Given the description of an element on the screen output the (x, y) to click on. 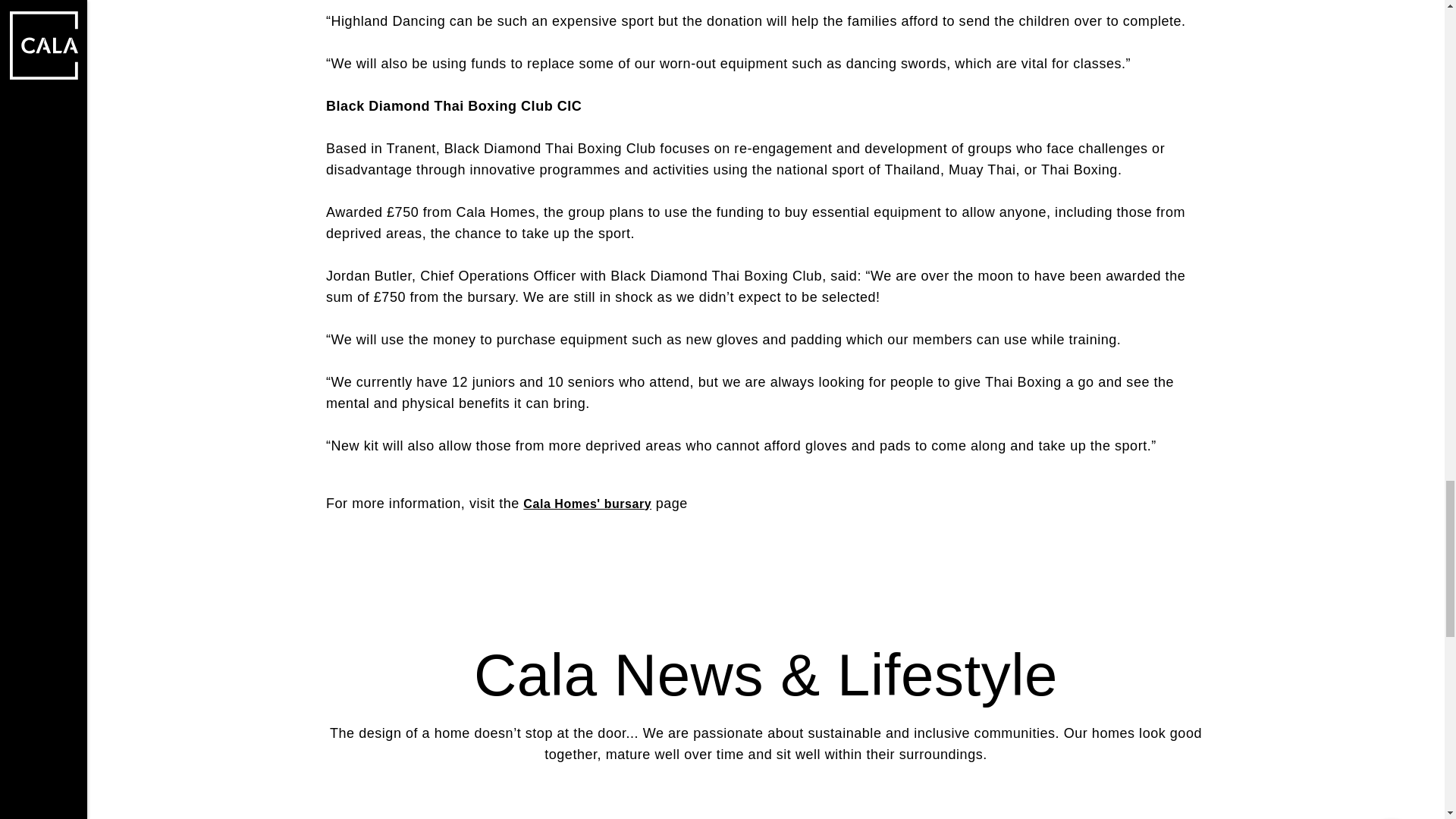
Cala Homes' bursary (586, 503)
Bursary (586, 503)
